Given the description of an element on the screen output the (x, y) to click on. 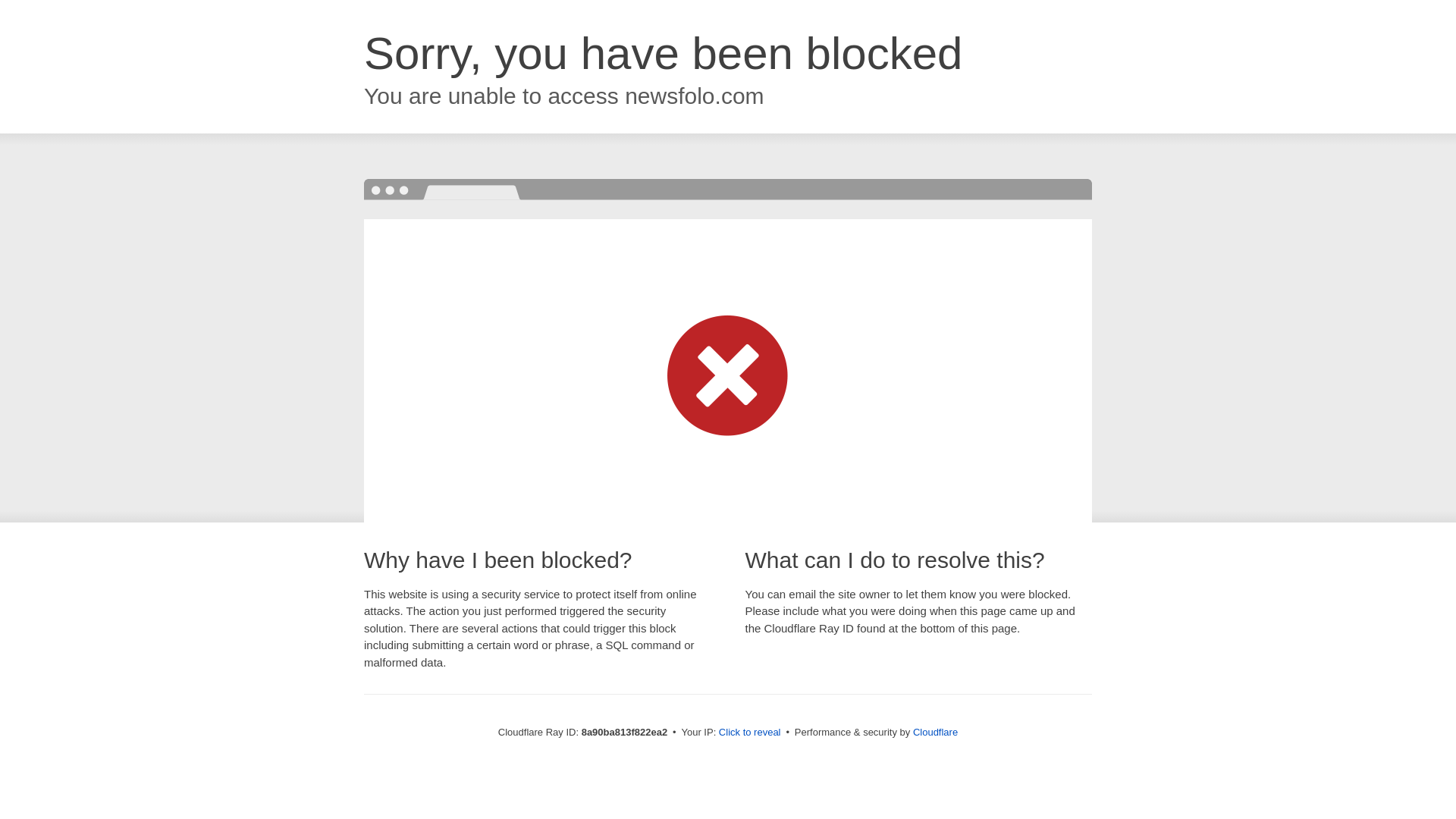
Cloudflare (935, 731)
Click to reveal (749, 732)
